Given the description of an element on the screen output the (x, y) to click on. 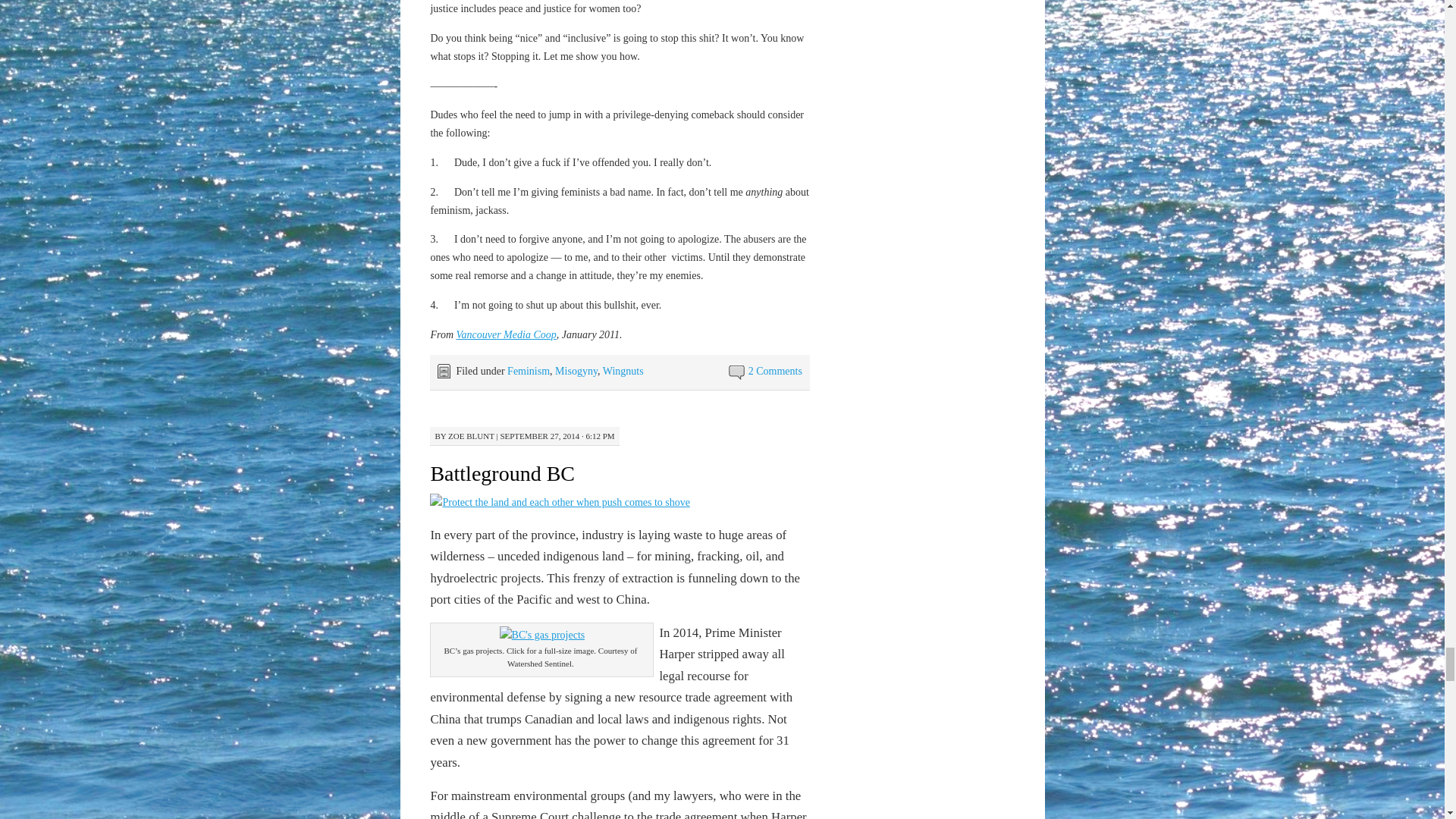
VMC (506, 334)
View all posts by Zoe Blunt (471, 435)
